Given the description of an element on the screen output the (x, y) to click on. 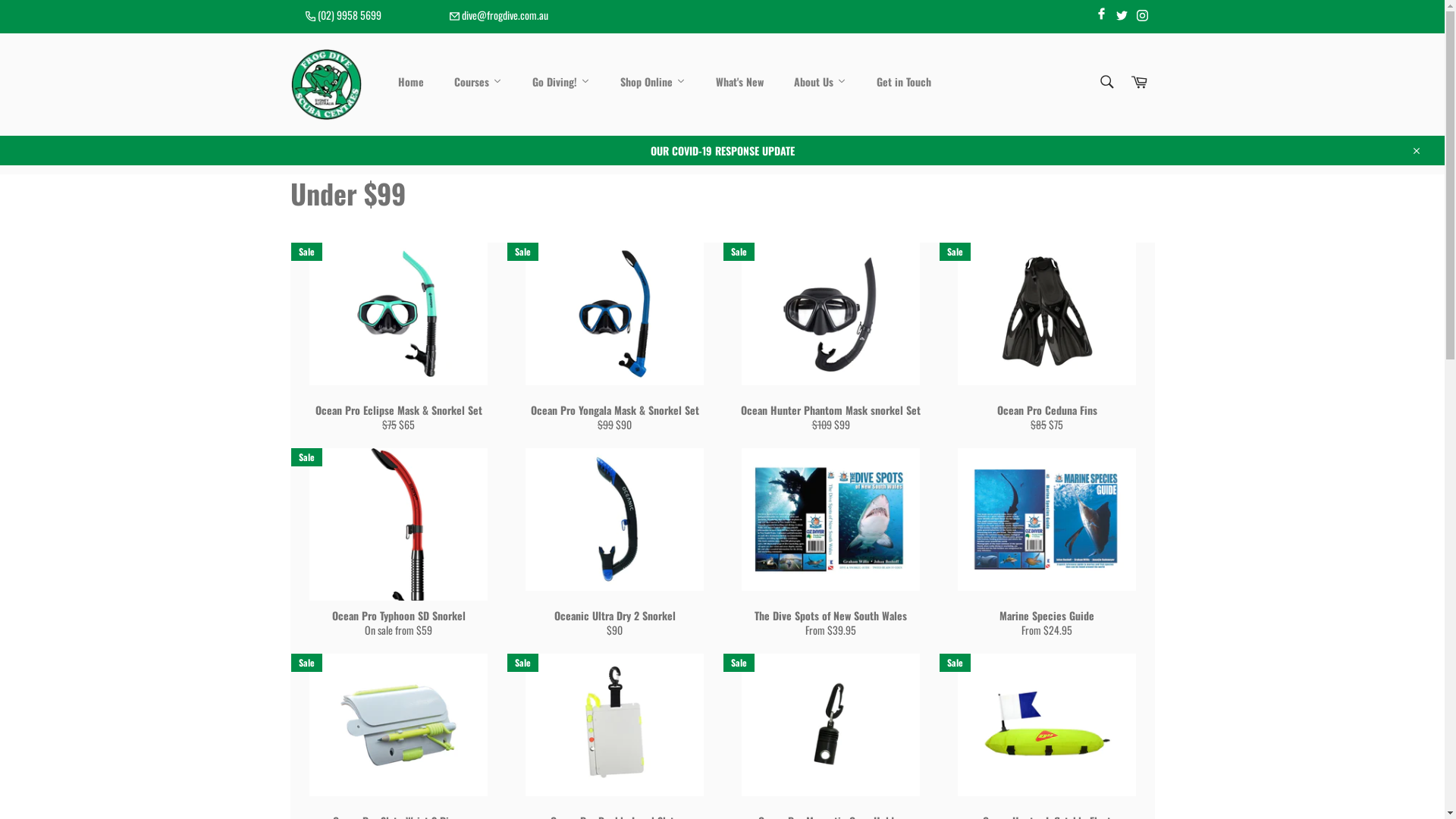
What's New Element type: text (739, 82)
Get in Touch Element type: text (903, 82)
Home Element type: text (410, 82)
Courses Element type: text (478, 82)
dive@frogdive.com.au Element type: text (497, 14)
OUR COVID-19 RESPONSE UPDATE Element type: text (722, 150)
Cart Element type: text (1138, 82)
Search Element type: text (1105, 81)
About Us Element type: text (819, 82)
Close Element type: text (1415, 150)
Shop Online Element type: text (652, 82)
(02) 9958 5699 Element type: text (342, 14)
The Dive Spots of New South Wales
From $39.95 Element type: text (829, 549)
Marine Species Guide
From $24.95 Element type: text (1046, 549)
Oceanic Ultra Dry 2 Snorkel
Regular price
$90 Element type: text (614, 549)
Go Diving! Element type: text (561, 82)
Ocean Pro Ceduna Fins
Regular price
$85
Sale price
$75
Sale Element type: text (1046, 345)
Ocean Pro Typhoon SD Snorkel
On sale from $59
Sale Element type: text (397, 549)
